Given the description of an element on the screen output the (x, y) to click on. 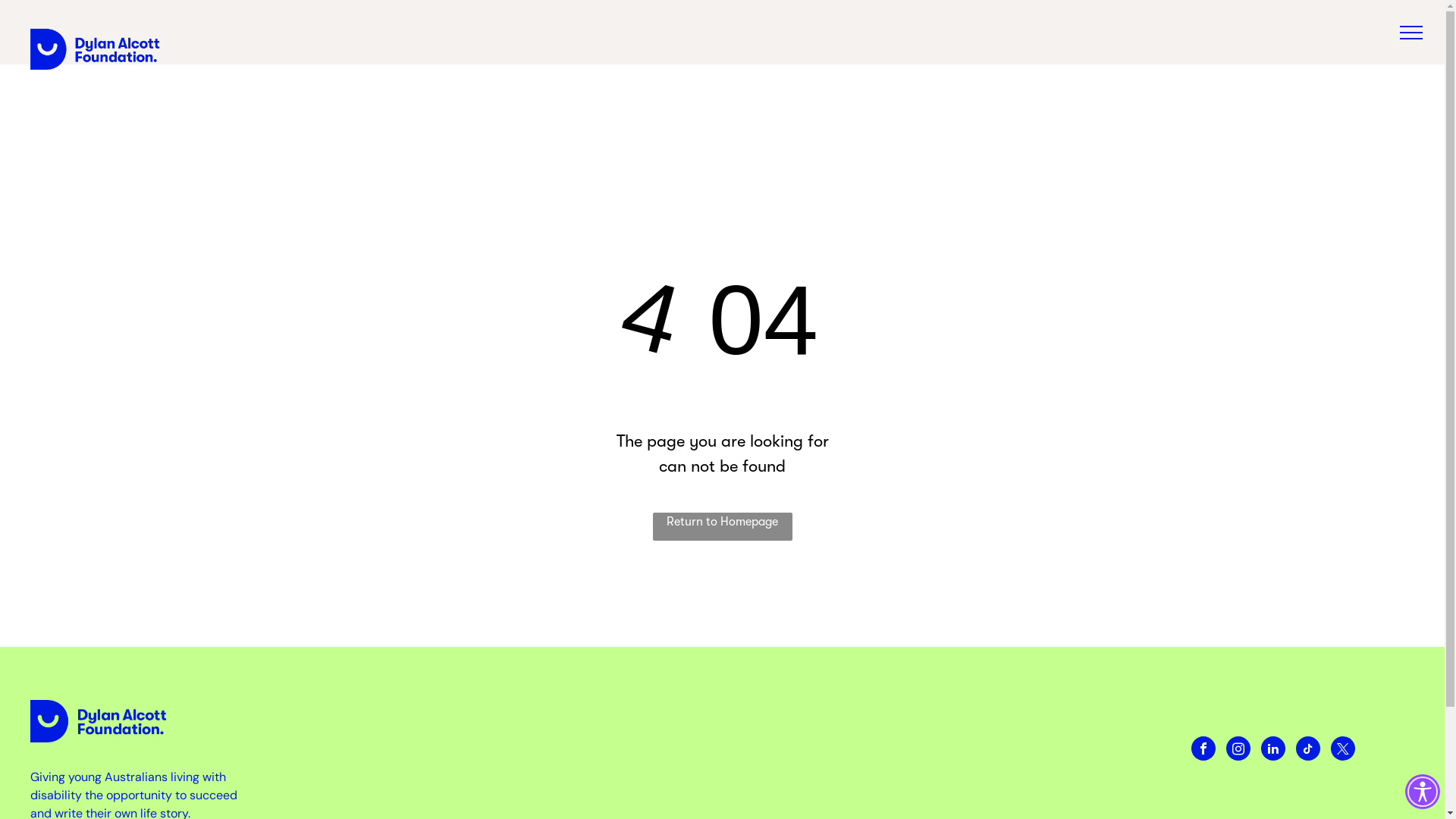
Return to Homepage Element type: text (721, 526)
